Given the description of an element on the screen output the (x, y) to click on. 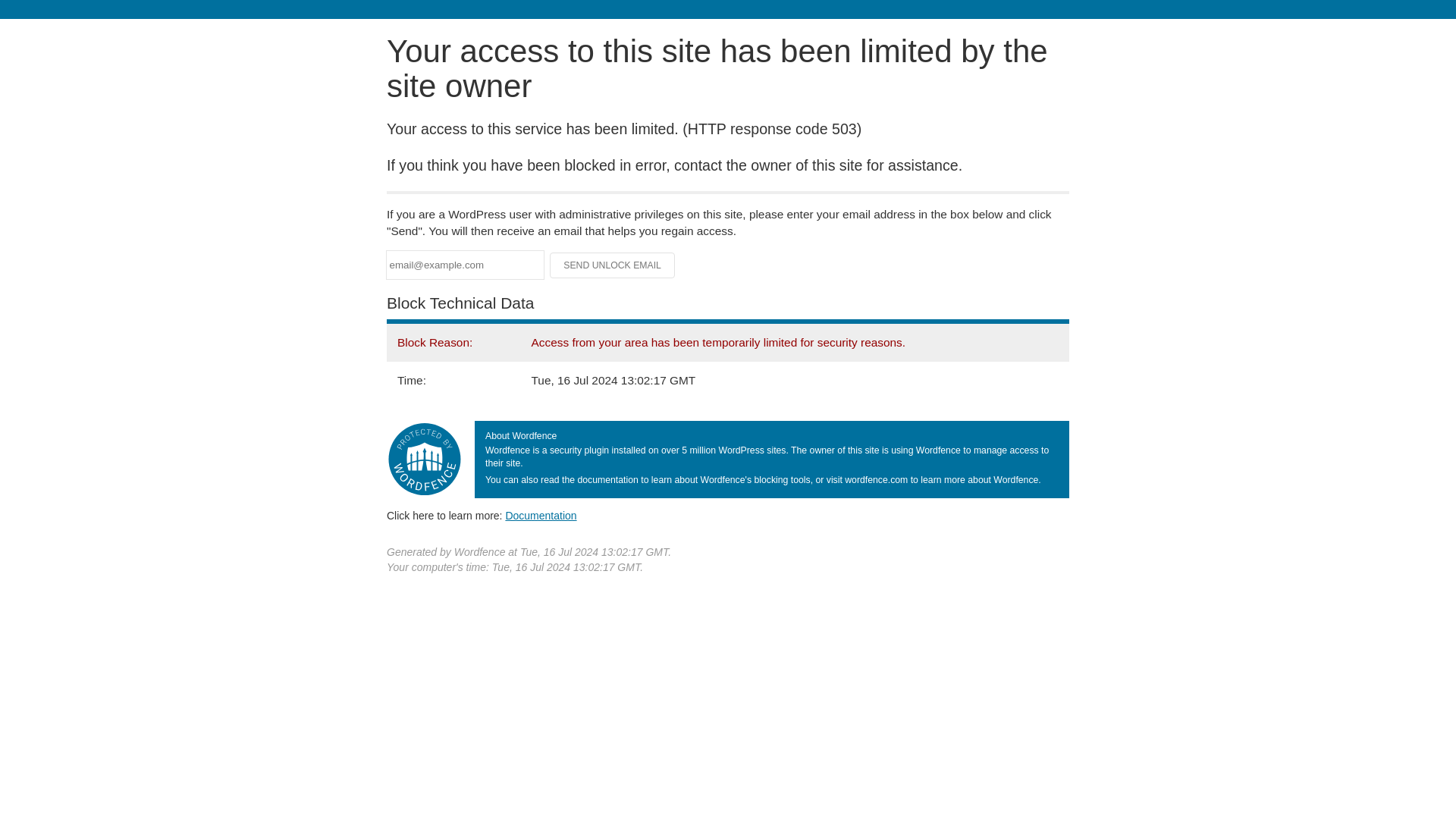
Documentation (540, 515)
Send Unlock Email (612, 265)
Send Unlock Email (612, 265)
